Given the description of an element on the screen output the (x, y) to click on. 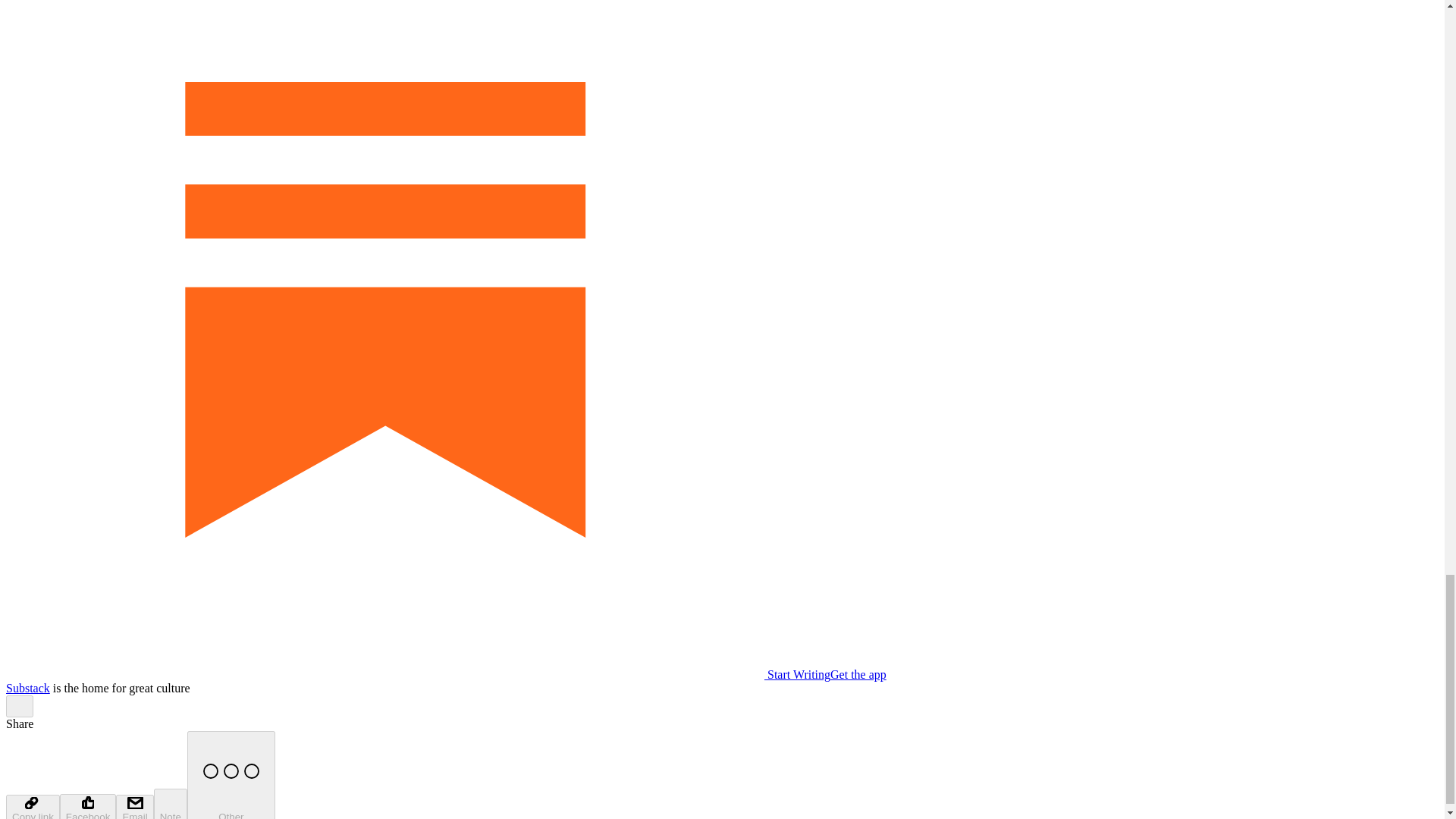
Get the app (857, 674)
Start Writing (417, 674)
Substack (27, 687)
